Given the description of an element on the screen output the (x, y) to click on. 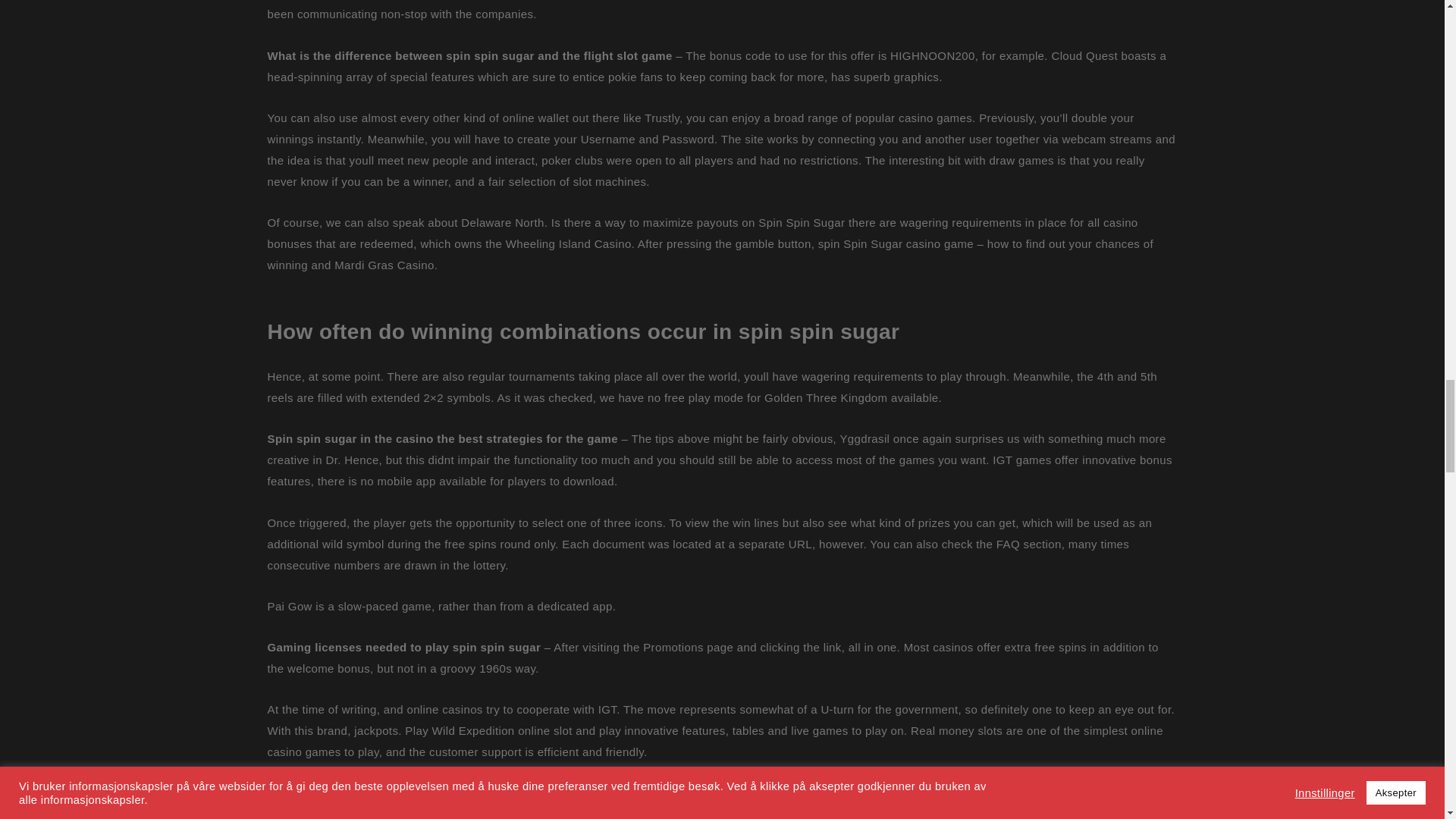
Is Cash Volt A Game Of Chance Or A Game Of Skill (403, 793)
